Given the description of an element on the screen output the (x, y) to click on. 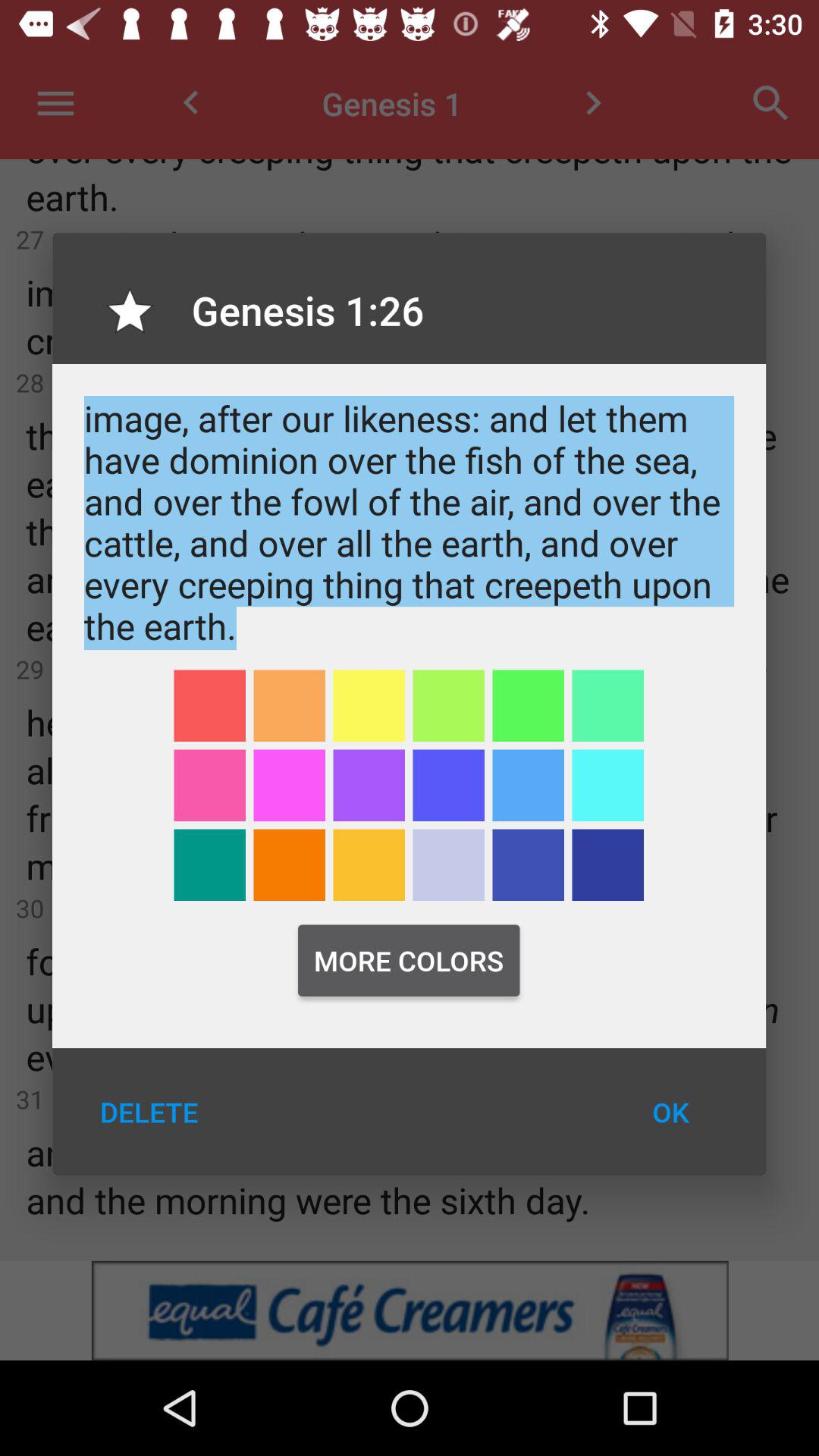
scroll until the and god said (409, 522)
